Given the description of an element on the screen output the (x, y) to click on. 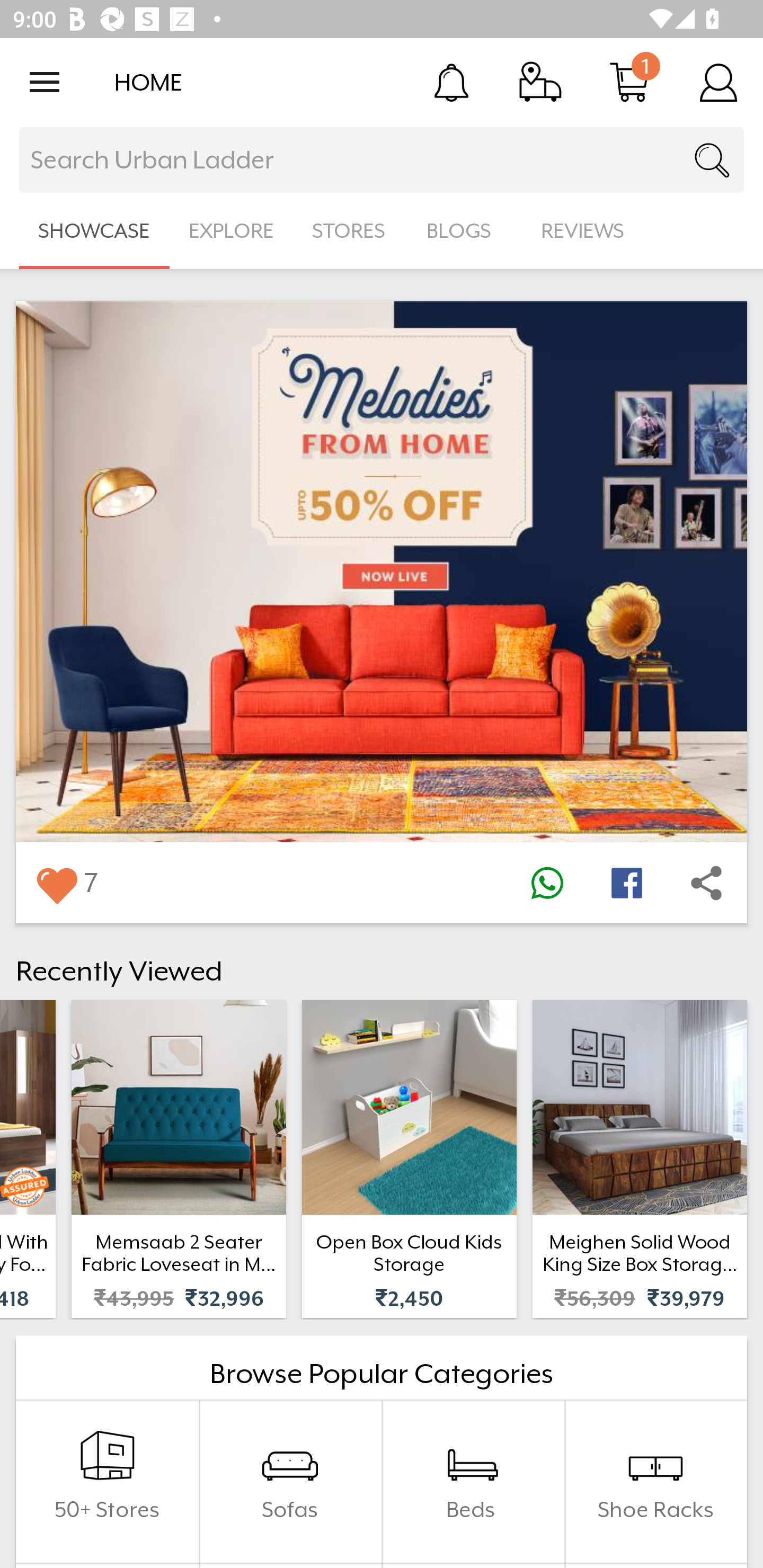
Open navigation drawer (44, 82)
Notification (450, 81)
Track Order (540, 81)
Cart (629, 81)
Account Details (718, 81)
Search Urban Ladder  (381, 159)
SHOWCASE (94, 230)
EXPLORE (230, 230)
STORES (349, 230)
BLOGS (464, 230)
REVIEWS (582, 230)
 (55, 882)
 (547, 882)
 (626, 882)
 (706, 882)
Open Box Cloud Kids Storage ₹2,450 (409, 1159)
50+ Stores (106, 1481)
Sofas (289, 1481)
Beds  (473, 1481)
Shoe Racks (655, 1481)
